Given the description of an element on the screen output the (x, y) to click on. 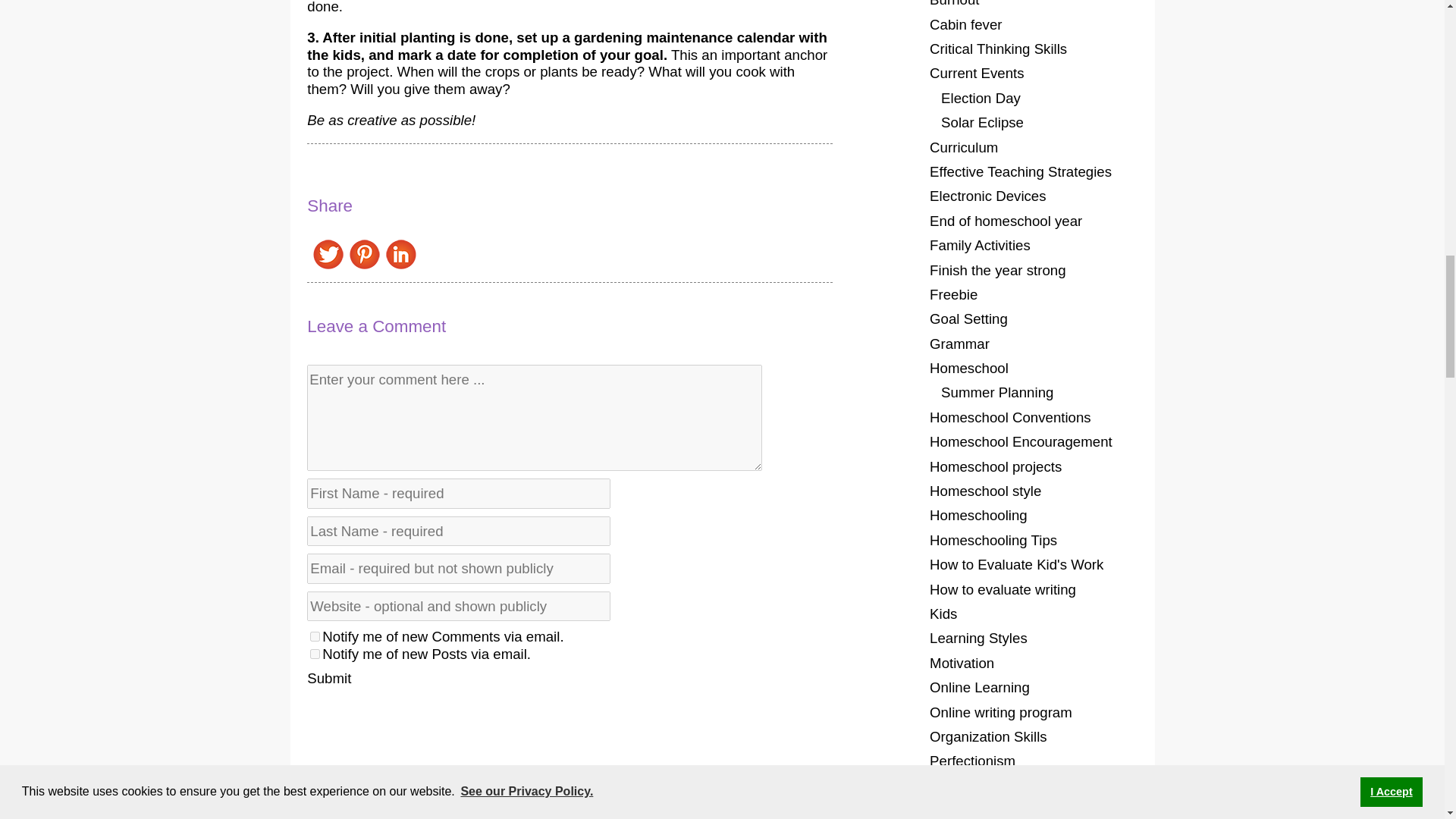
Share this Post on Twitter (328, 264)
Share this Post on Pinterest (364, 264)
